Given the description of an element on the screen output the (x, y) to click on. 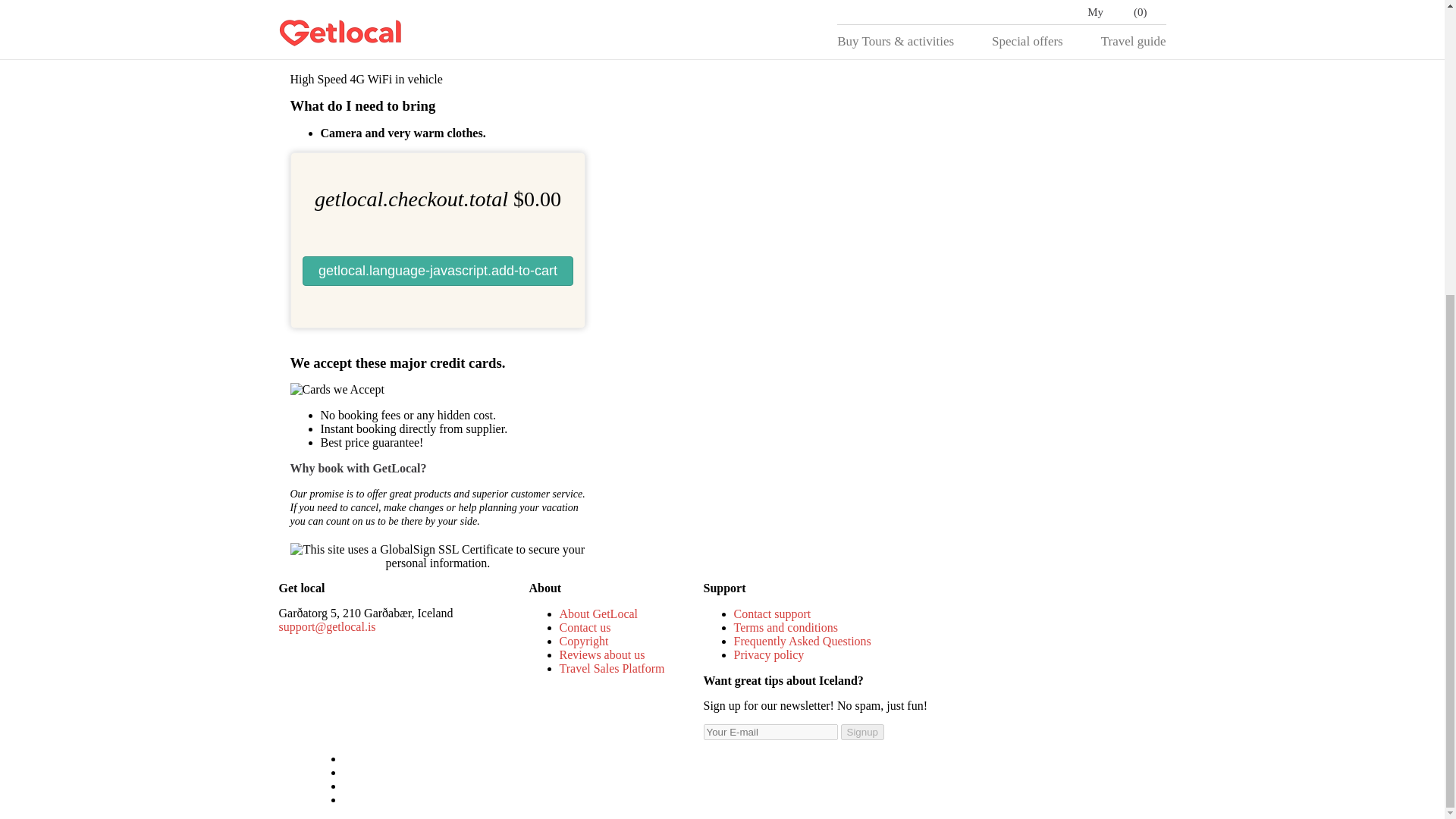
Contact support (771, 613)
Reviews about us (602, 654)
Travel Sales Platform (612, 667)
Terms and conditions (785, 626)
Terms and conditions (785, 626)
Travel Sales Platform (612, 667)
Privacy policy (769, 654)
Cards we Accept (336, 389)
Frequently Asked Questions (801, 640)
Privacy policy (769, 654)
Copyright (583, 640)
Contact us (585, 626)
Signup (861, 731)
getlocal.language-javascript.add-to-cart (437, 270)
Contact support (771, 613)
